Given the description of an element on the screen output the (x, y) to click on. 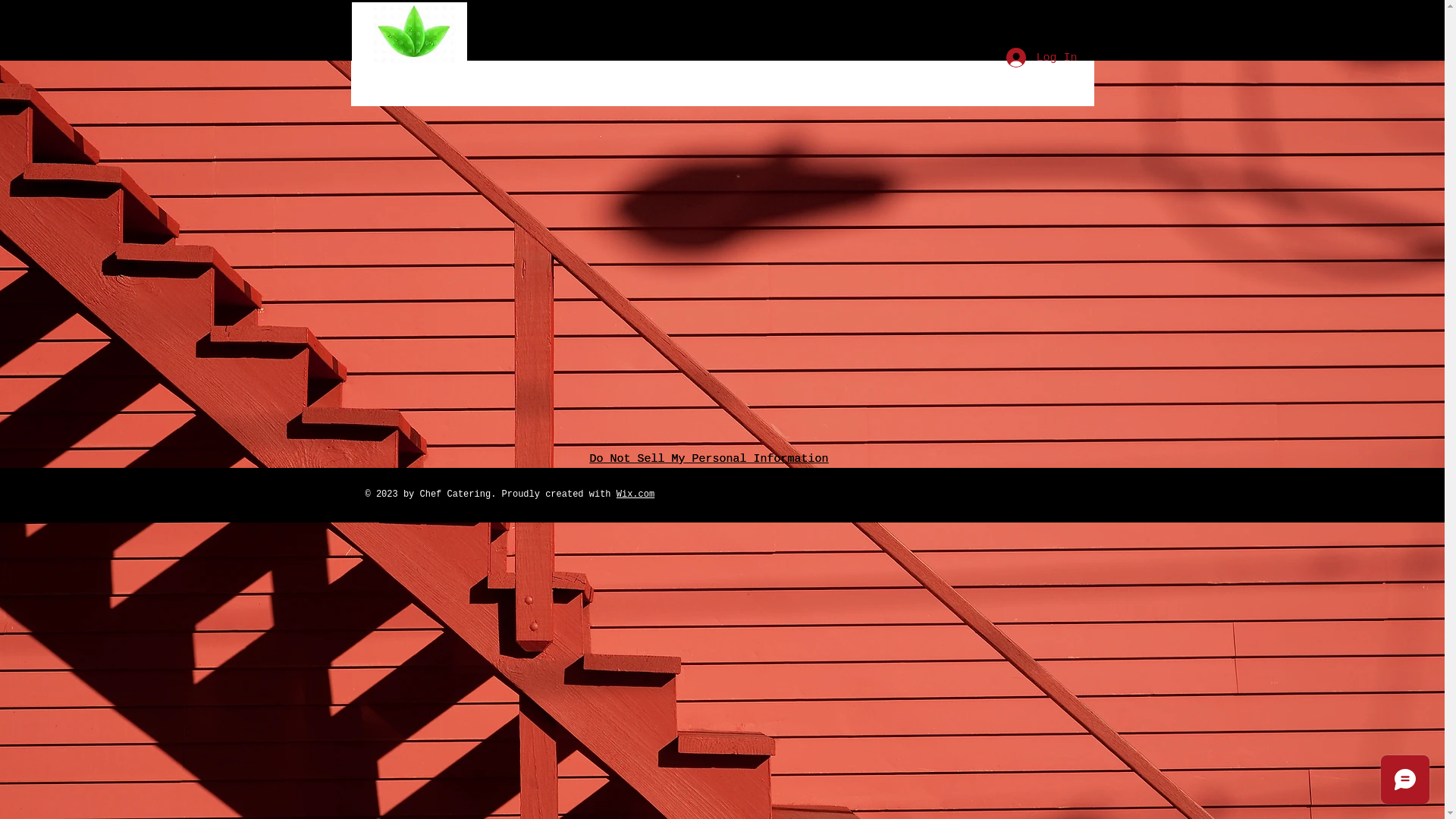
Wix.com Element type: text (635, 494)
Restaurant Social Bar Element type: hover (1021, 495)
Do Not Sell My Personal Information Element type: text (708, 459)
Log In Element type: text (1039, 57)
